Given the description of an element on the screen output the (x, y) to click on. 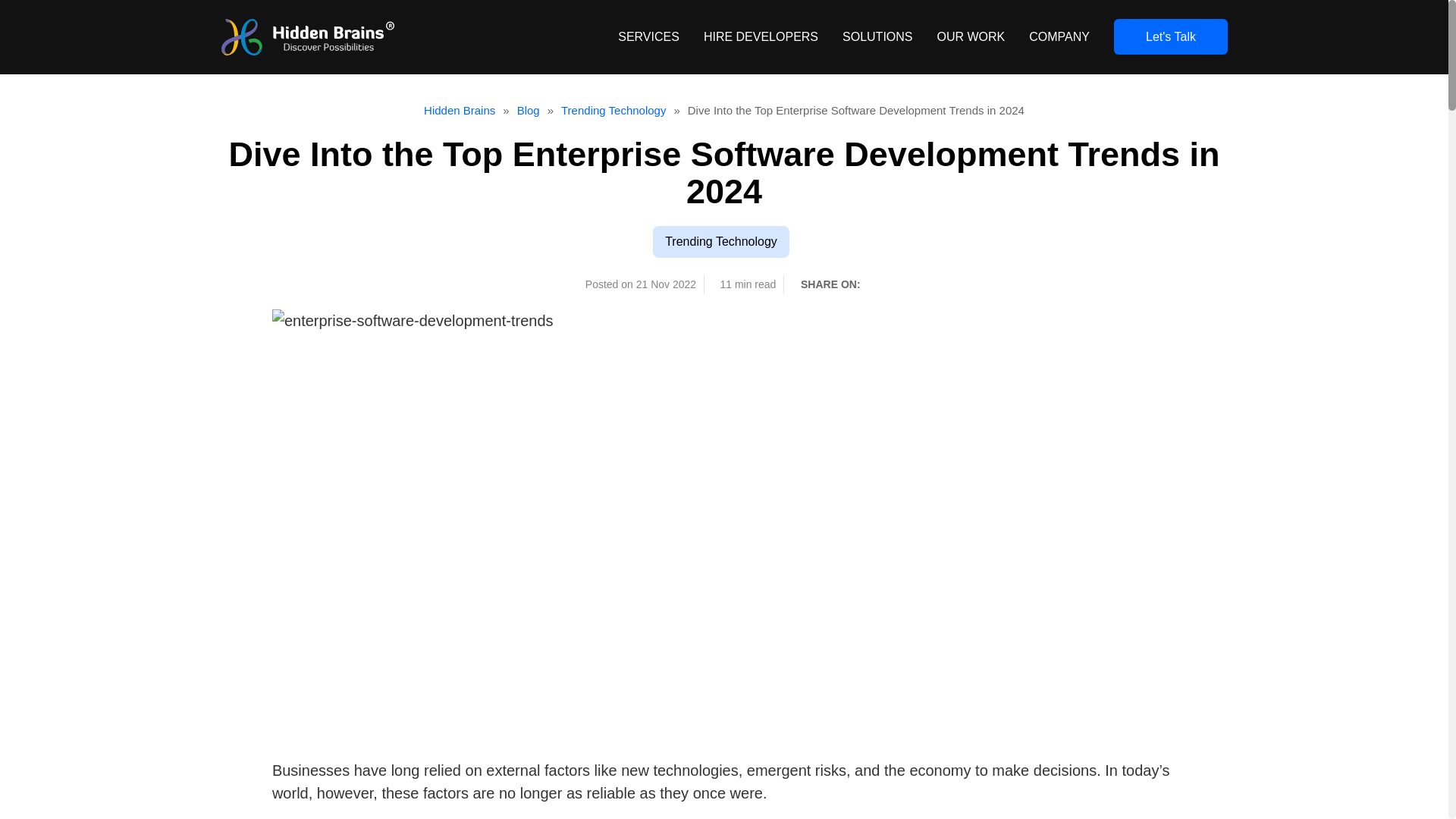
HIRE DEVELOPERS (760, 36)
Skip to the content (50, 9)
SERVICES (648, 36)
